Given the description of an element on the screen output the (x, y) to click on. 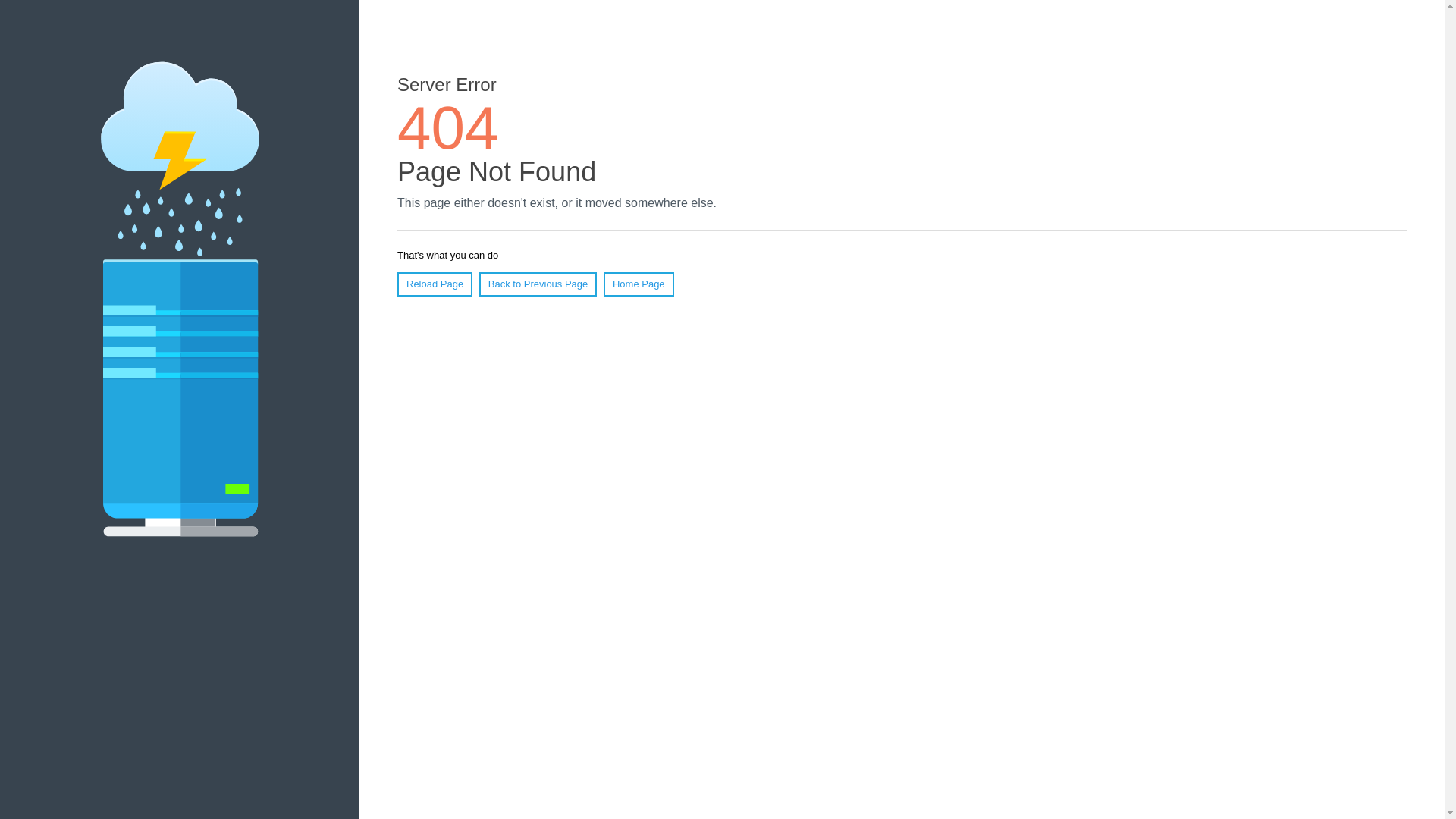
Back to Previous Page (537, 283)
Reload Page (434, 283)
Home Page (639, 283)
